Given the description of an element on the screen output the (x, y) to click on. 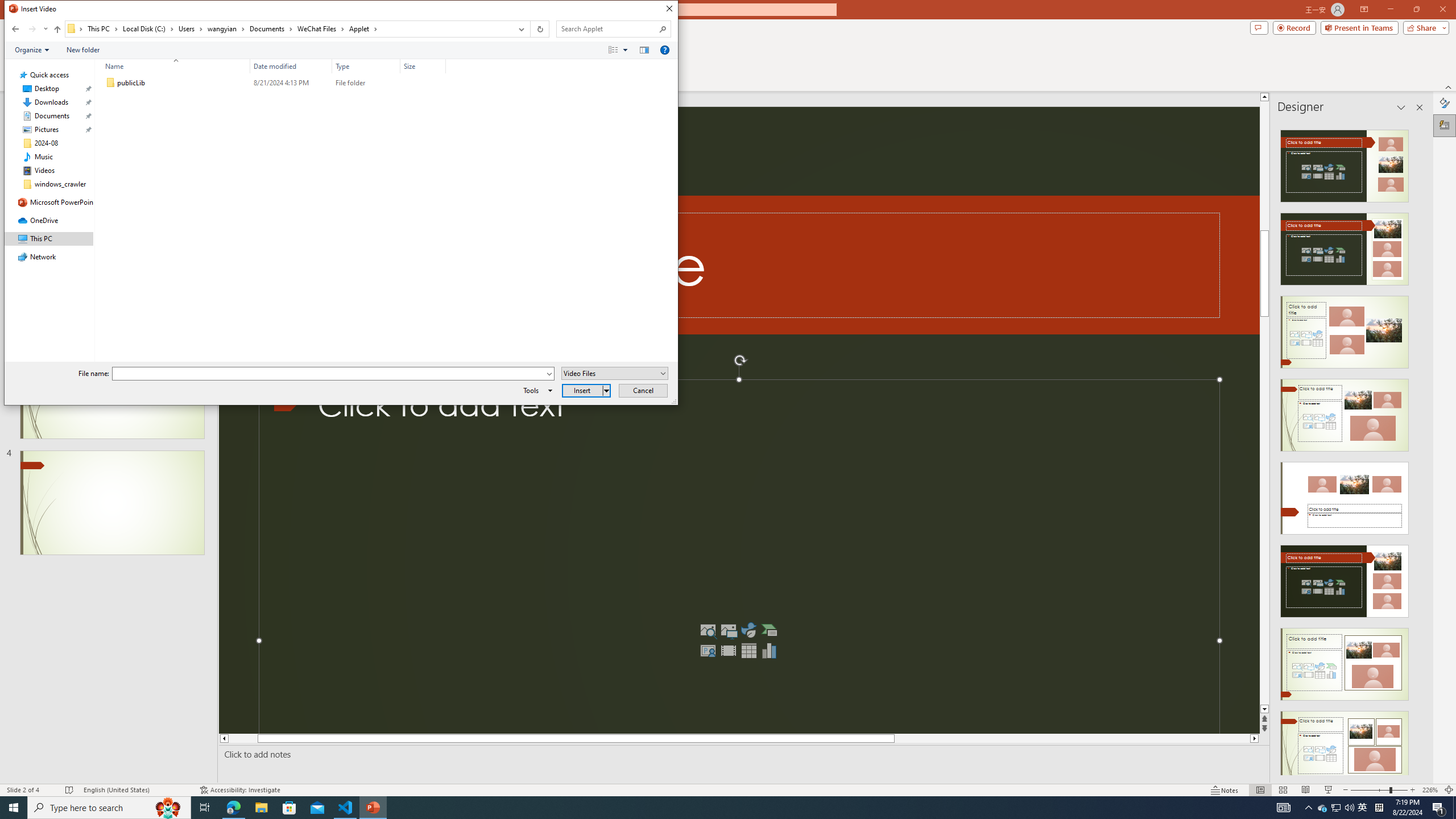
&Help (664, 49)
Stock Images (707, 629)
Filter dropdown (440, 65)
Tools (535, 390)
Forward (Alt + Right Arrow) (31, 28)
Size (422, 82)
Navigation buttons (28, 28)
Up band toolbar (57, 30)
